Given the description of an element on the screen output the (x, y) to click on. 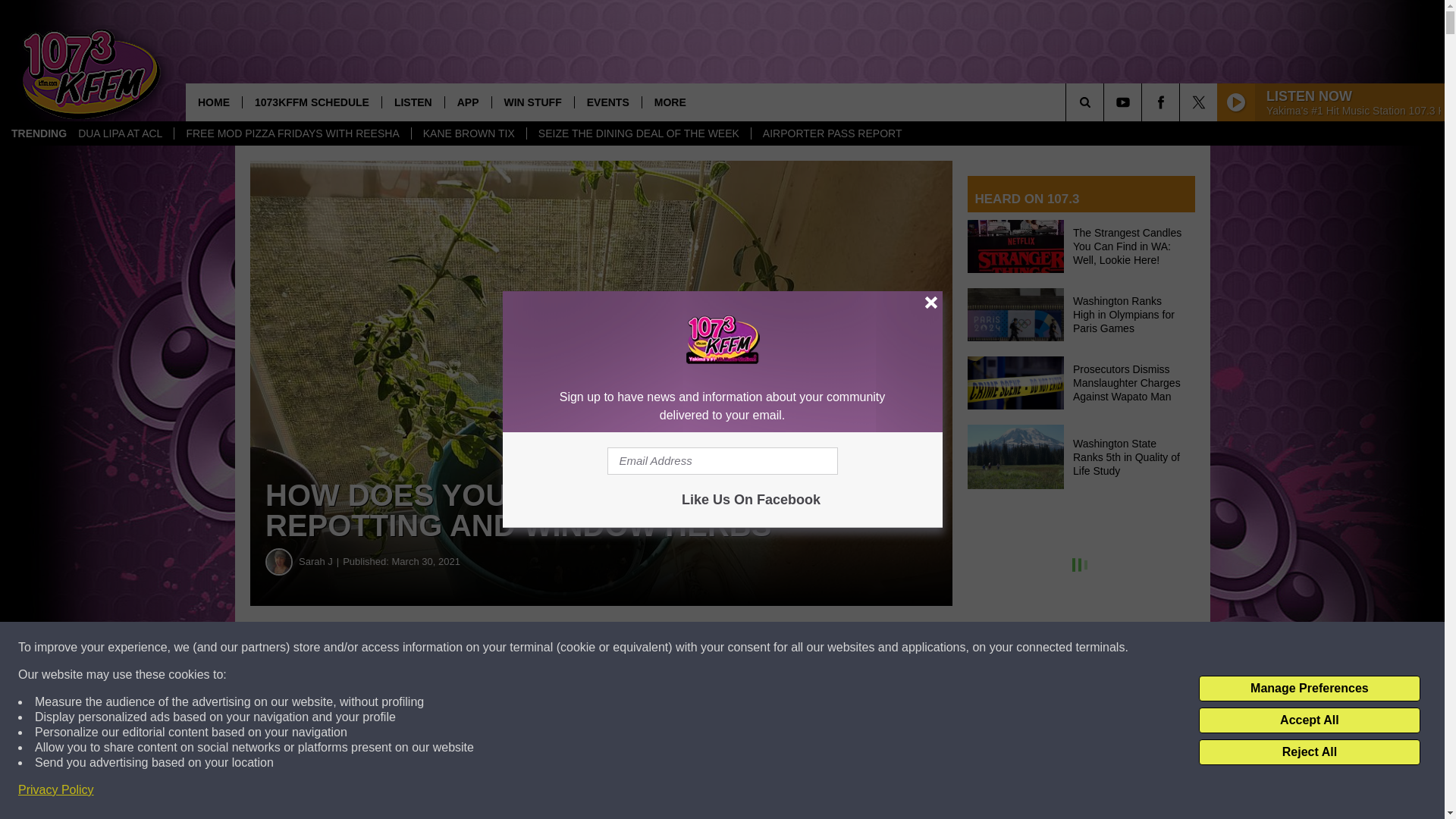
Share on Twitter (741, 647)
WIN STUFF (532, 102)
Privacy Policy (55, 789)
APP (468, 102)
SEIZE THE DINING DEAL OF THE WEEK (638, 133)
FREE MOD PIZZA FRIDAYS WITH REESHA (291, 133)
Manage Preferences (1309, 688)
Accept All (1309, 720)
KANE BROWN TIX (467, 133)
SEARCH (1106, 102)
Share on Facebook (460, 647)
Reject All (1309, 751)
AIRPORTER PASS REPORT (832, 133)
DUA LIPA AT ACL (119, 133)
HOME (213, 102)
